Given the description of an element on the screen output the (x, y) to click on. 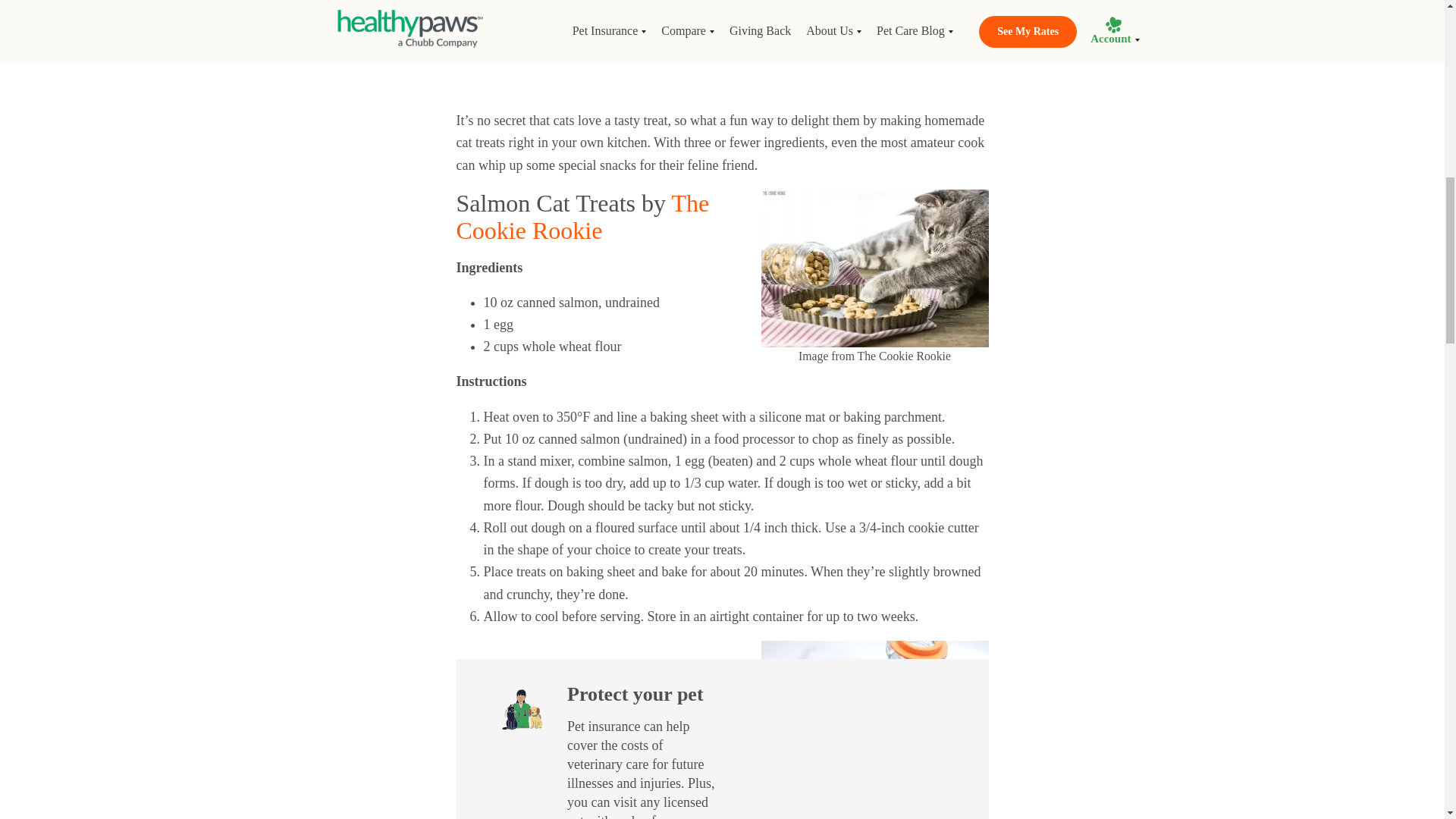
Tuna Cat Treats by The Supakit Blog (575, 20)
Baked Chicken Jerky Cat Treats by Cat Wisdom 101 (620, 48)
